Given the description of an element on the screen output the (x, y) to click on. 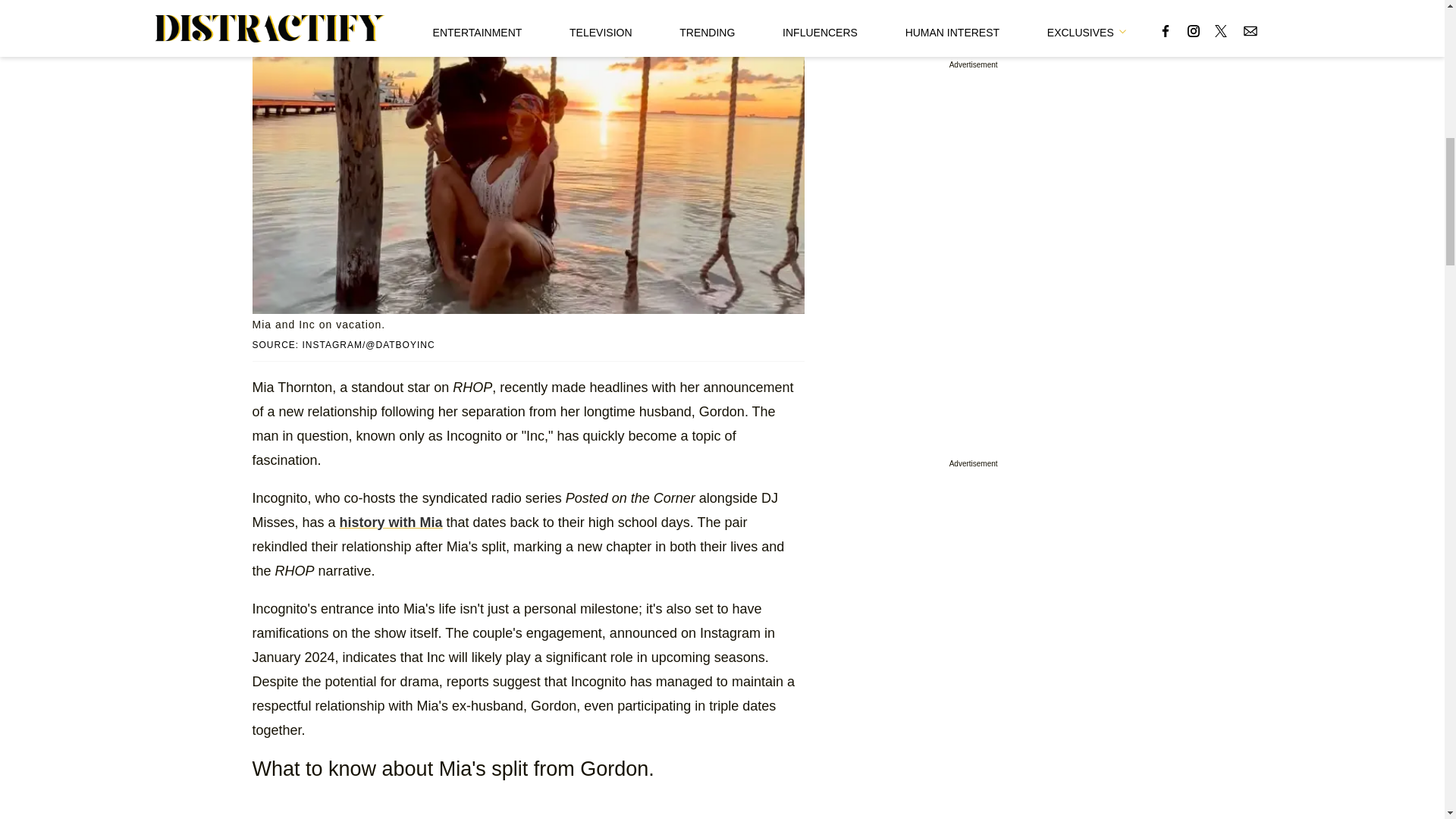
history with Mia (390, 521)
